Given the description of an element on the screen output the (x, y) to click on. 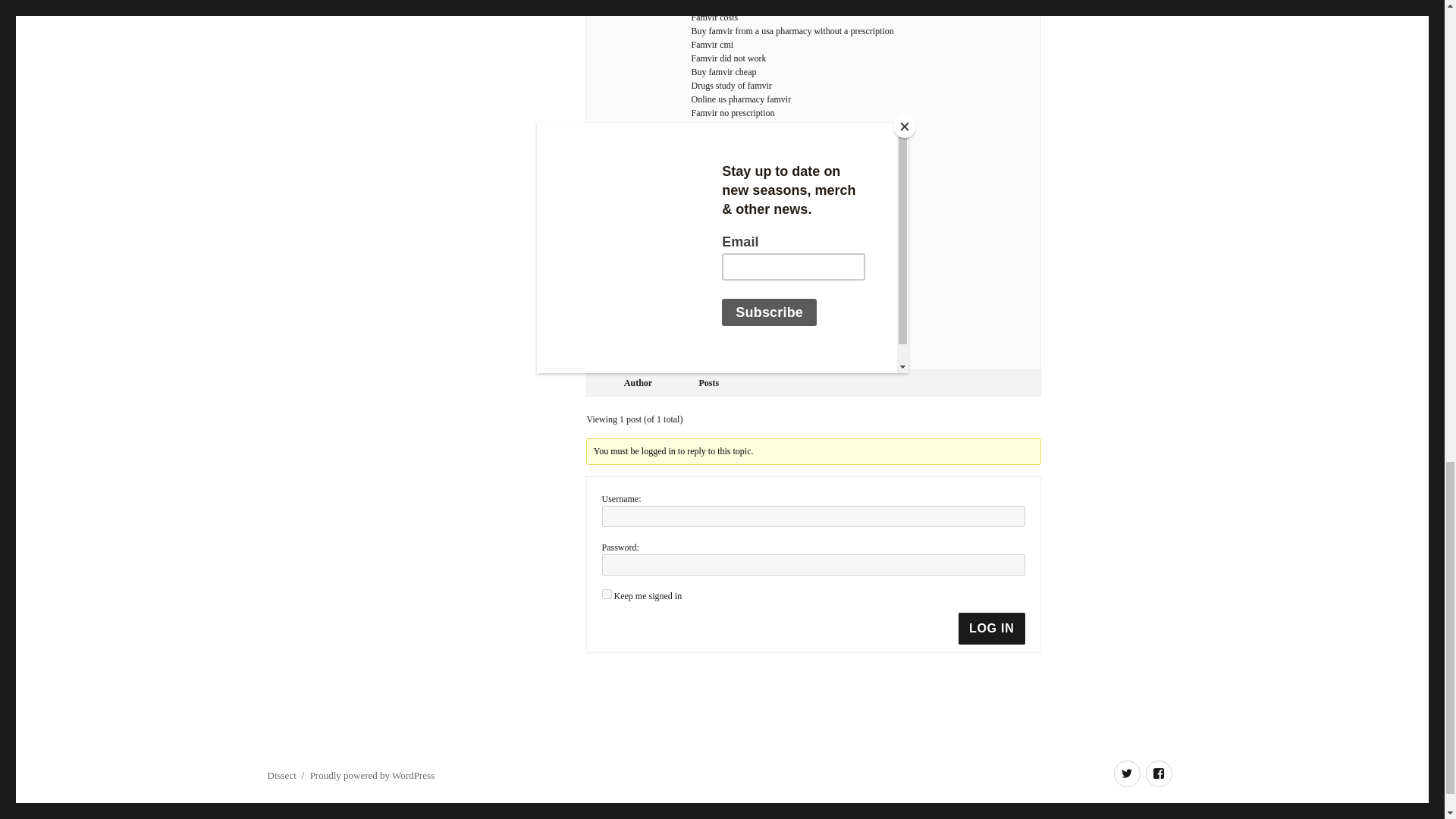
Twitter (1126, 773)
Dissect (280, 775)
LOG IN (991, 628)
Proudly powered by WordPress (371, 775)
Facebook (1158, 773)
forever (606, 593)
